Given the description of an element on the screen output the (x, y) to click on. 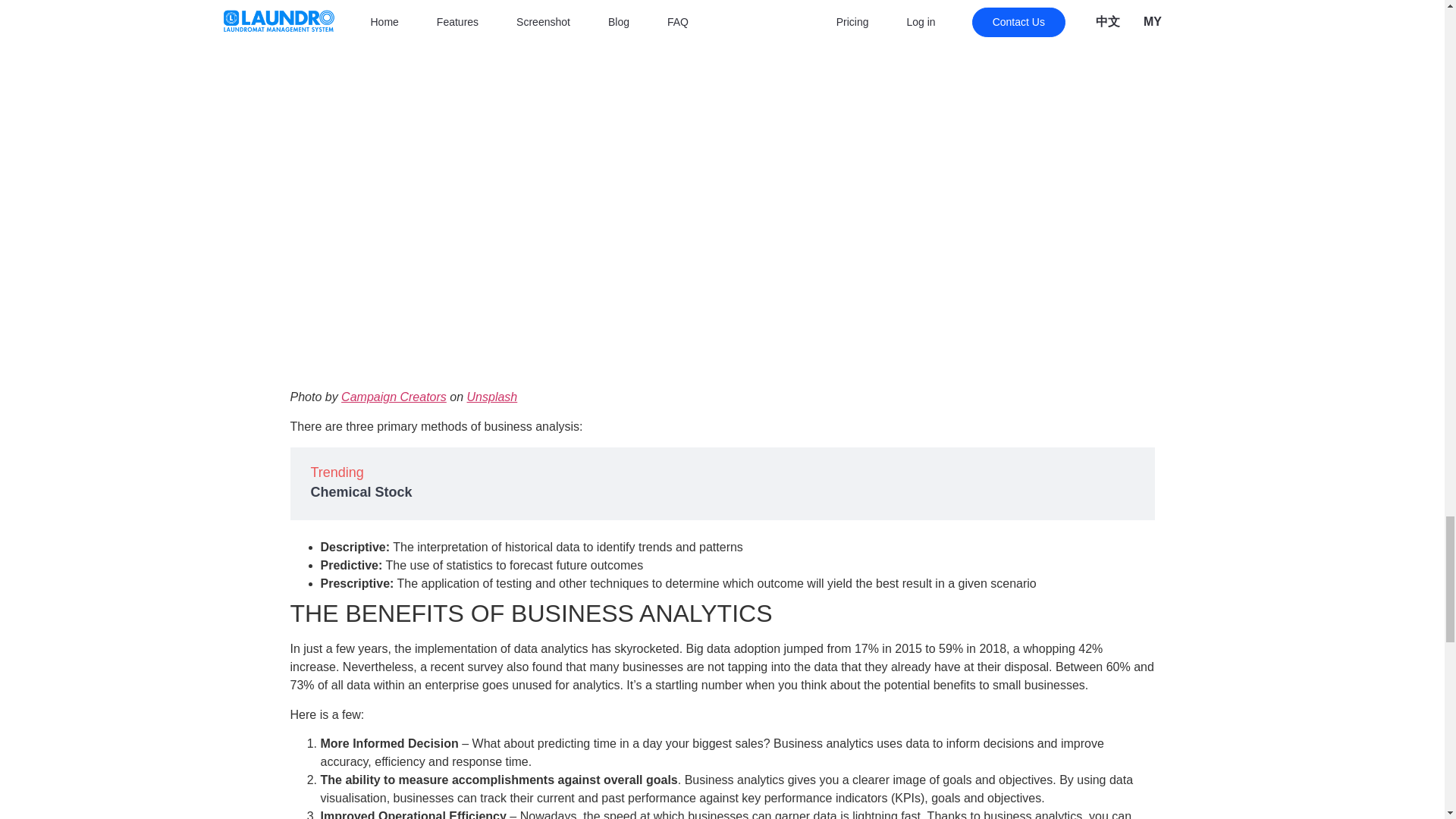
Campaign Creators (393, 396)
